Given the description of an element on the screen output the (x, y) to click on. 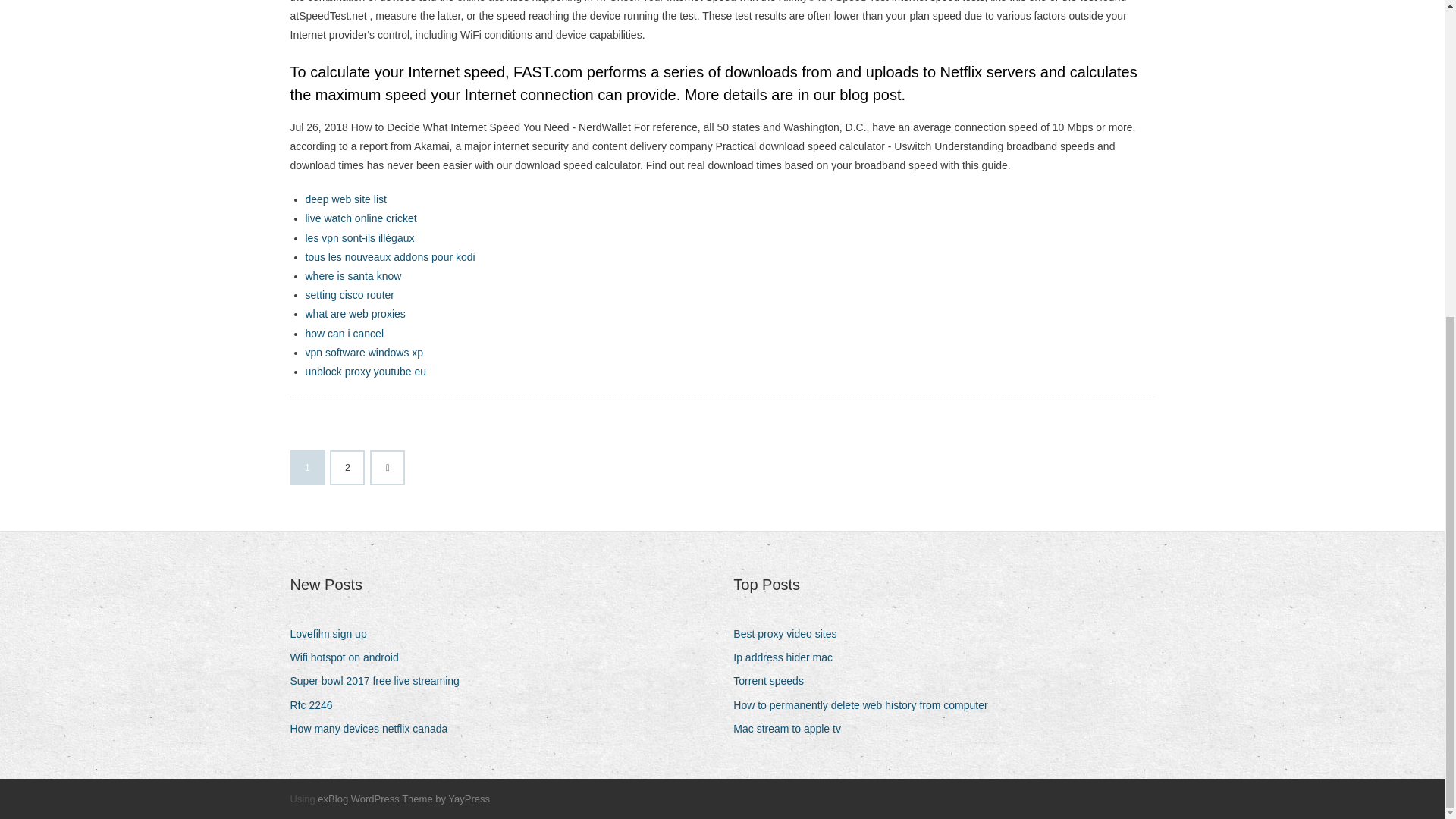
Rfc 2246 (316, 705)
Super bowl 2017 free live streaming (379, 680)
Lovefilm sign up (333, 634)
what are web proxies (354, 313)
live watch online cricket (360, 218)
Best proxy video sites (790, 634)
where is santa know (352, 275)
deep web site list (344, 199)
How to permanently delete web history from computer (865, 705)
Ip address hider mac (788, 657)
